Given the description of an element on the screen output the (x, y) to click on. 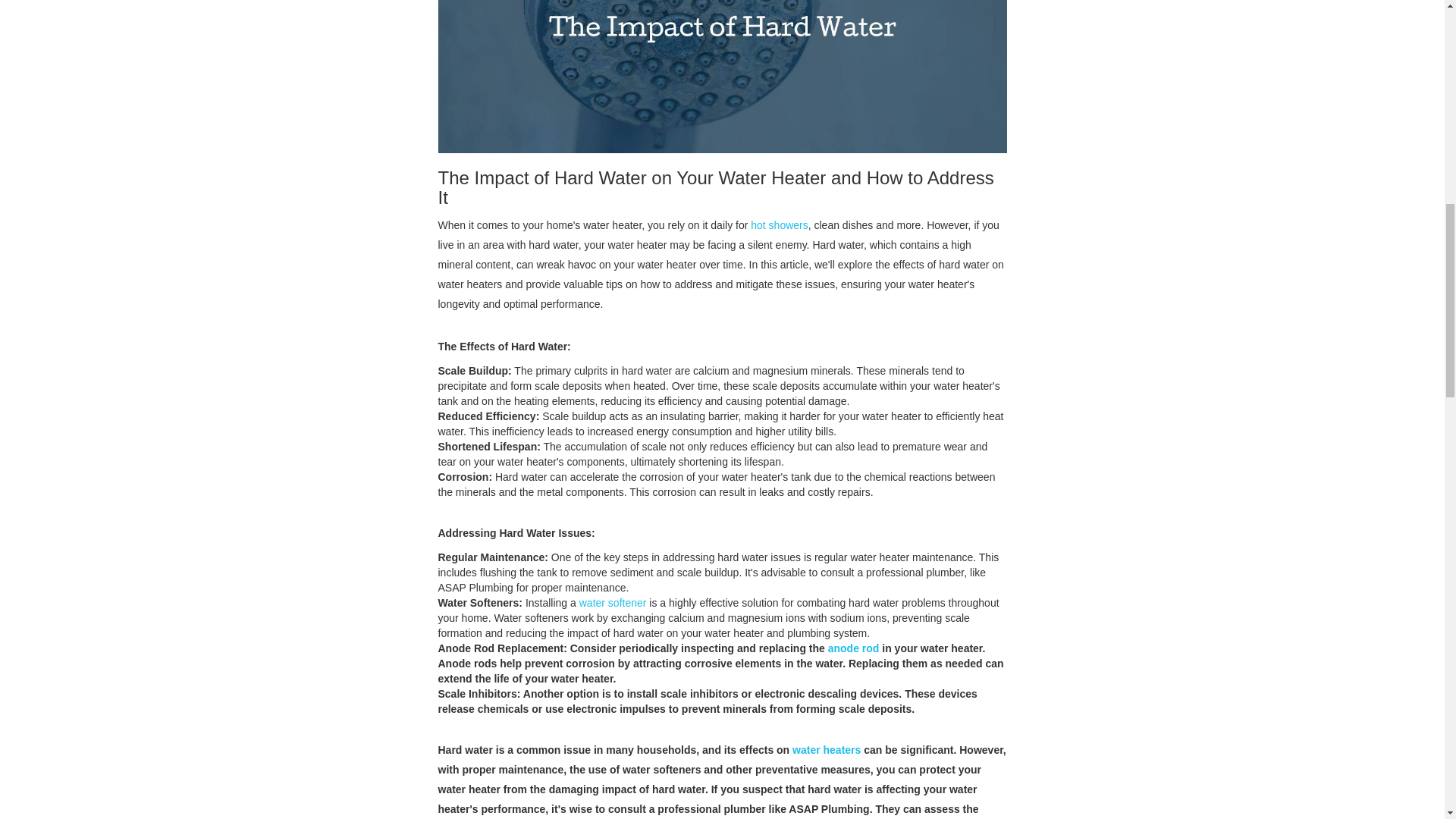
water heaters (826, 749)
hot showers (779, 224)
anode rod (853, 648)
water softener (612, 603)
